Given the description of an element on the screen output the (x, y) to click on. 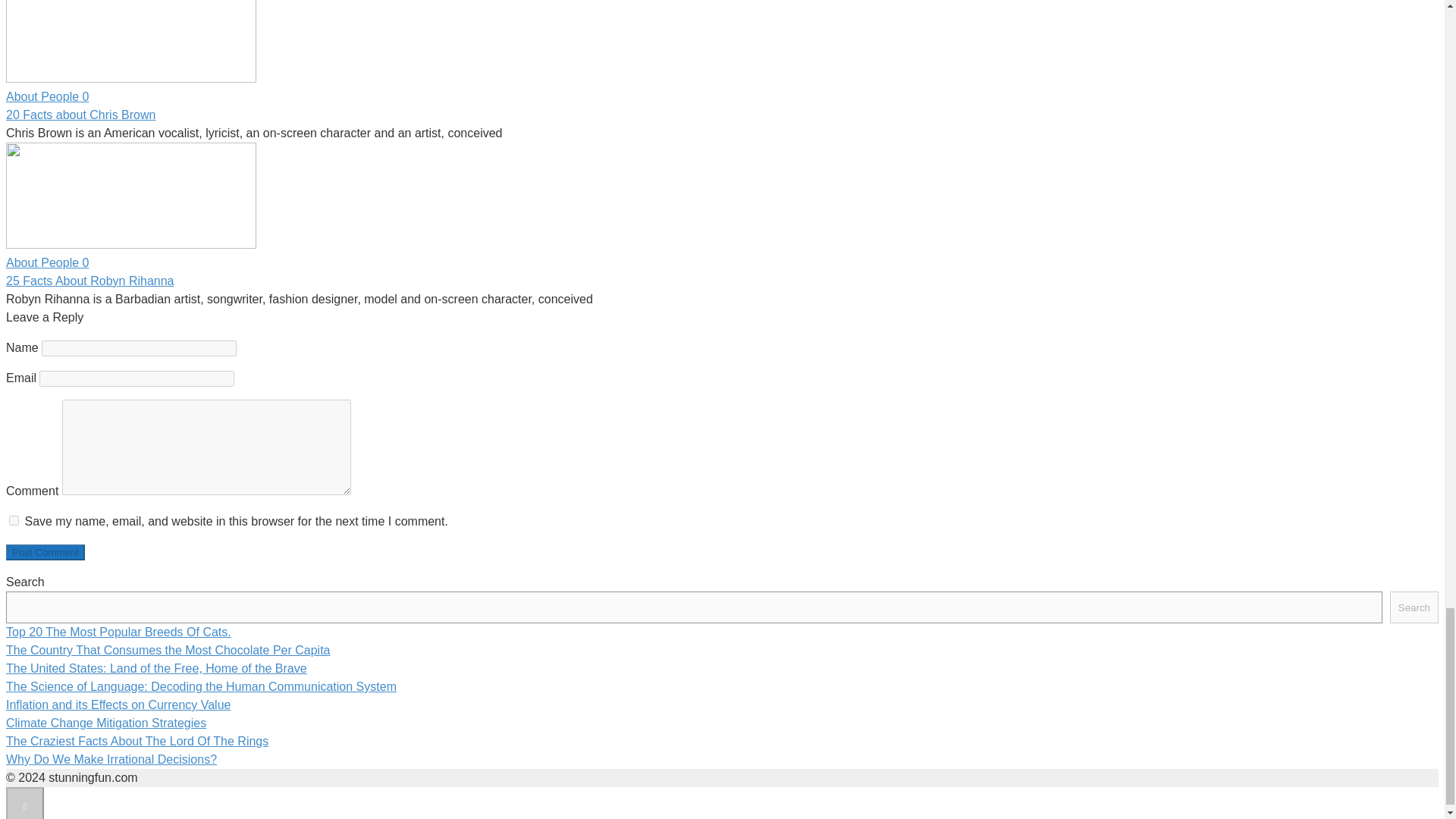
Post Comment (44, 552)
yes (13, 520)
20 Facts about Chris Brown (80, 114)
